Given the description of an element on the screen output the (x, y) to click on. 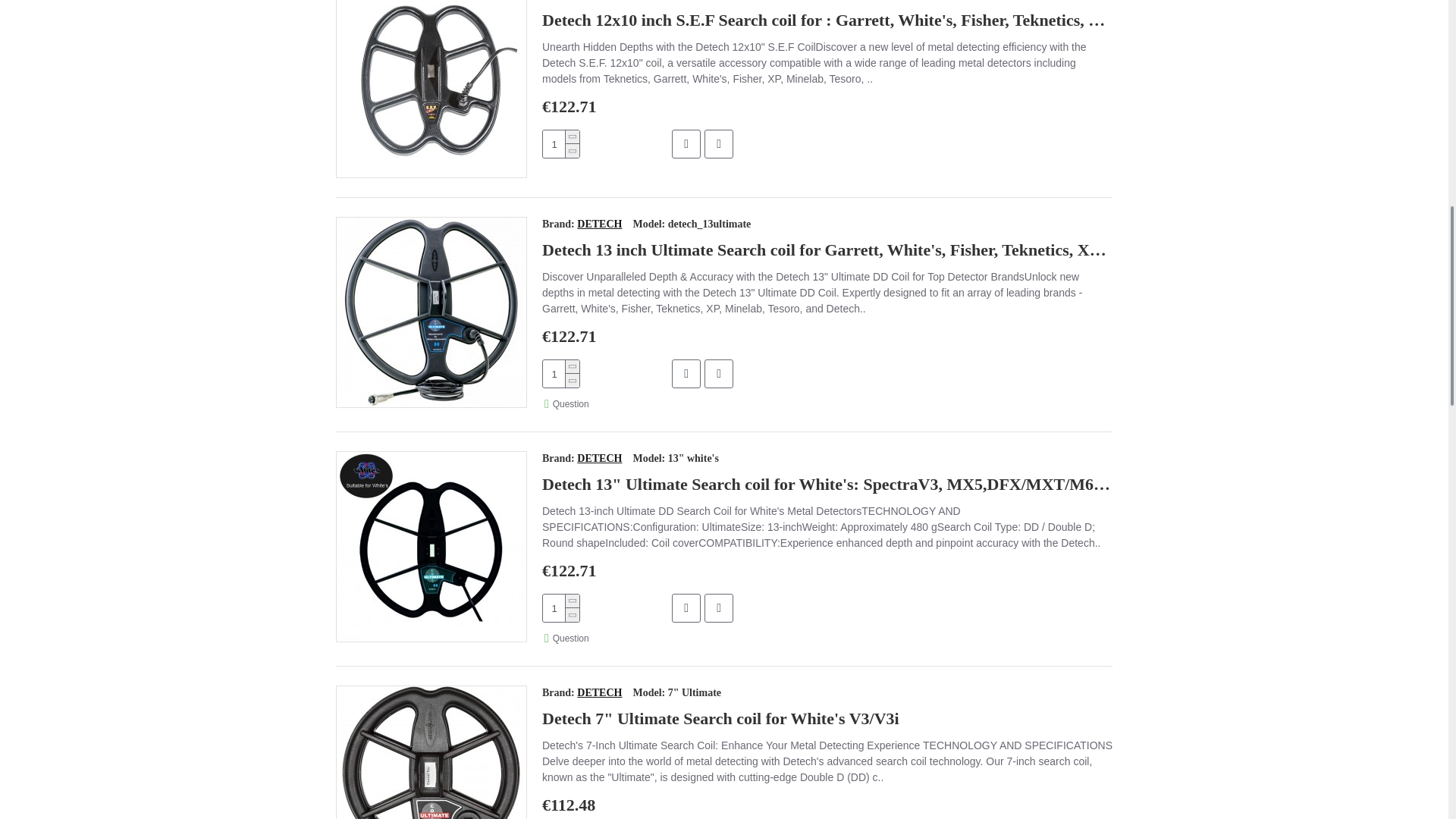
1 (561, 373)
1 (561, 607)
1 (561, 144)
